Given the description of an element on the screen output the (x, y) to click on. 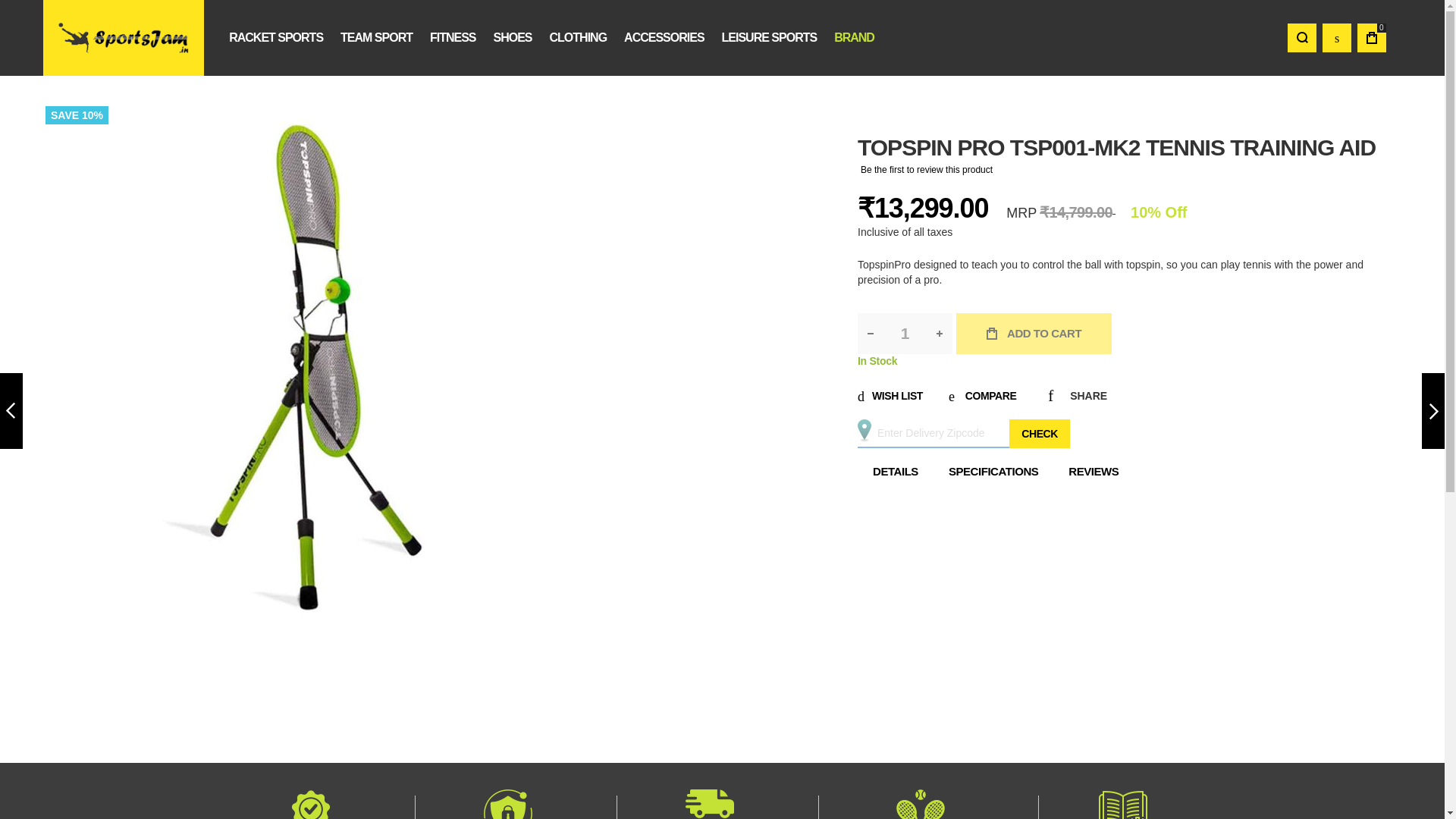
Zipcode (963, 433)
Check (1039, 433)
Add to Cart (1034, 332)
Availability (1124, 361)
RACKET SPORTS (276, 37)
1 (904, 332)
Qty (904, 332)
